Given the description of an element on the screen output the (x, y) to click on. 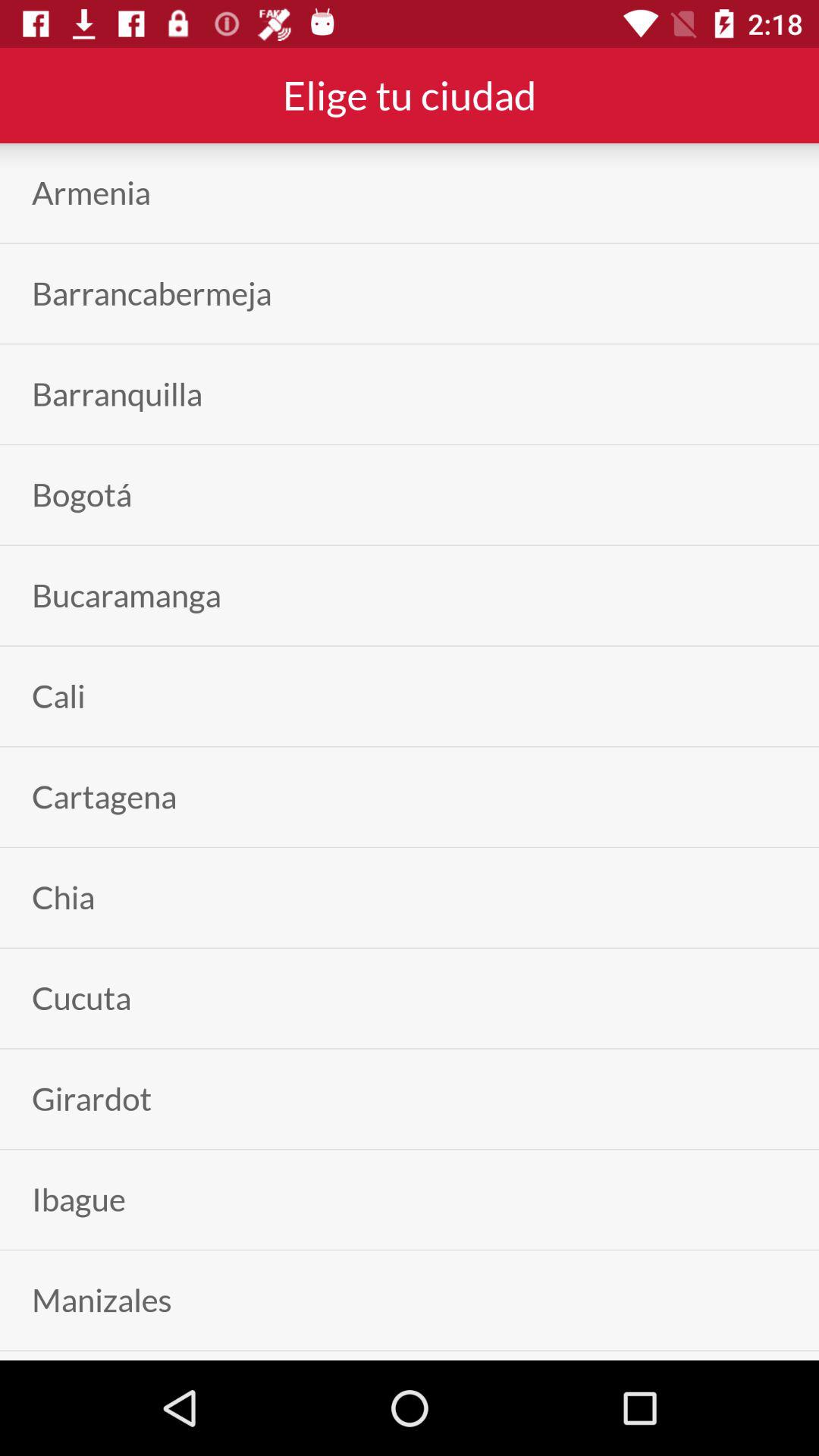
select the app above the ibague app (91, 1099)
